Given the description of an element on the screen output the (x, y) to click on. 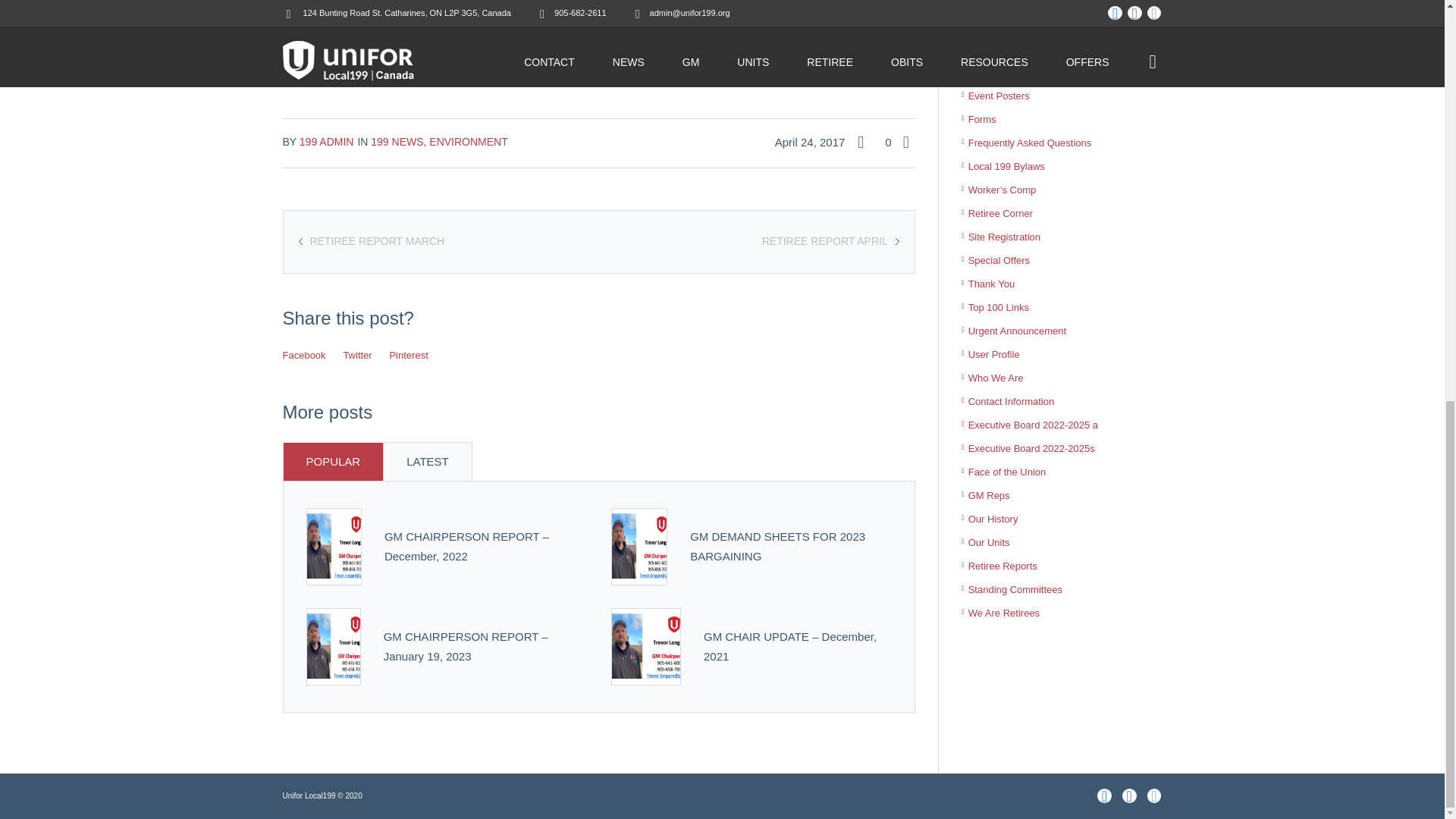
GM DEMAND SHEETS FOR 2023 BARGAINING (638, 545)
April 24, 2017 (813, 142)
GM DEMAND SHEETS FOR 2023 BARGAINING (777, 545)
GM DEMAND SHEETS FOR 2023 BARGAINING (638, 546)
Posts by 199 Admin (326, 141)
